Given the description of an element on the screen output the (x, y) to click on. 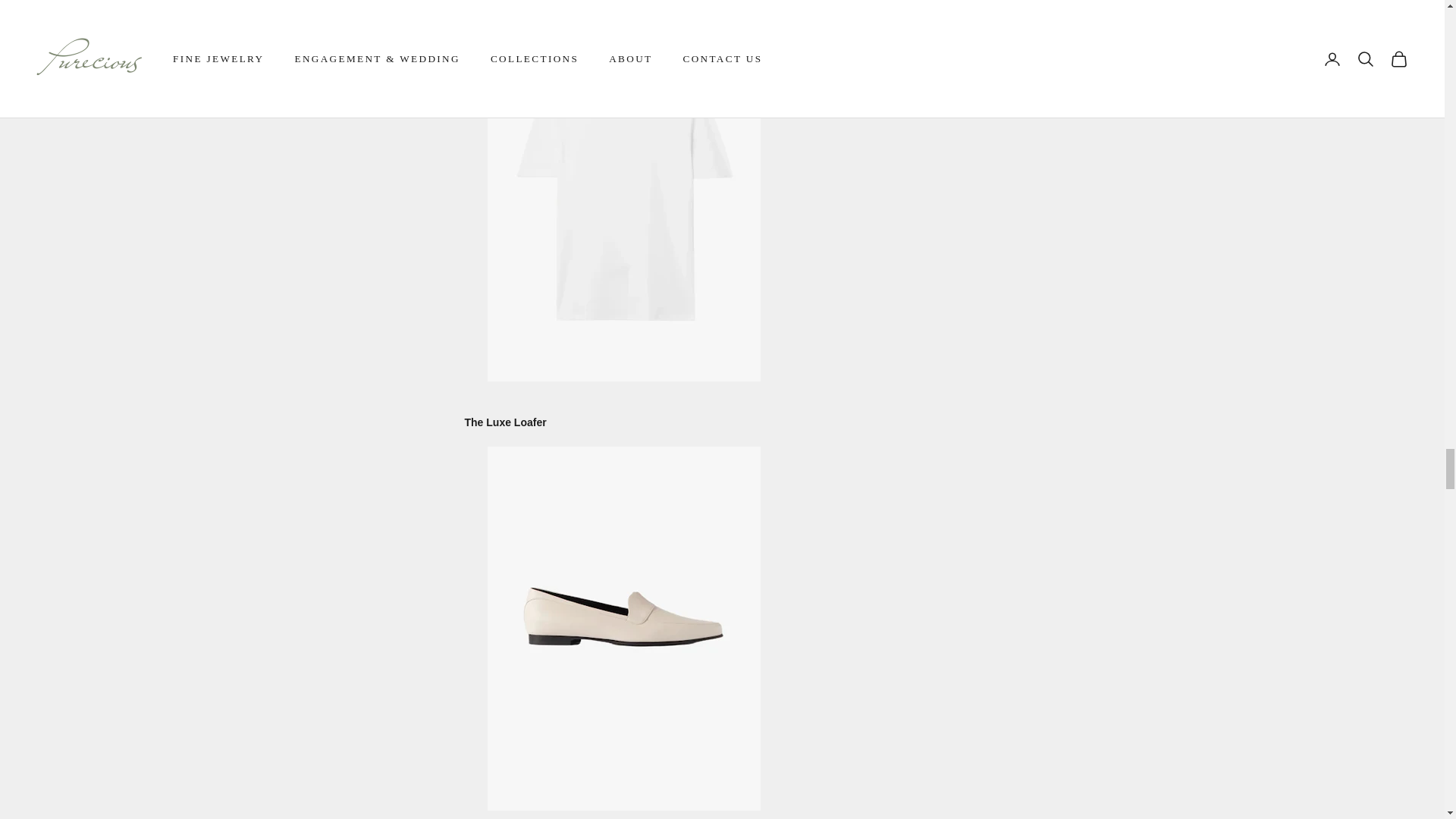
Cotton Jersey T-Shirt (623, 198)
Leather Loafer (623, 627)
